Given the description of an element on the screen output the (x, y) to click on. 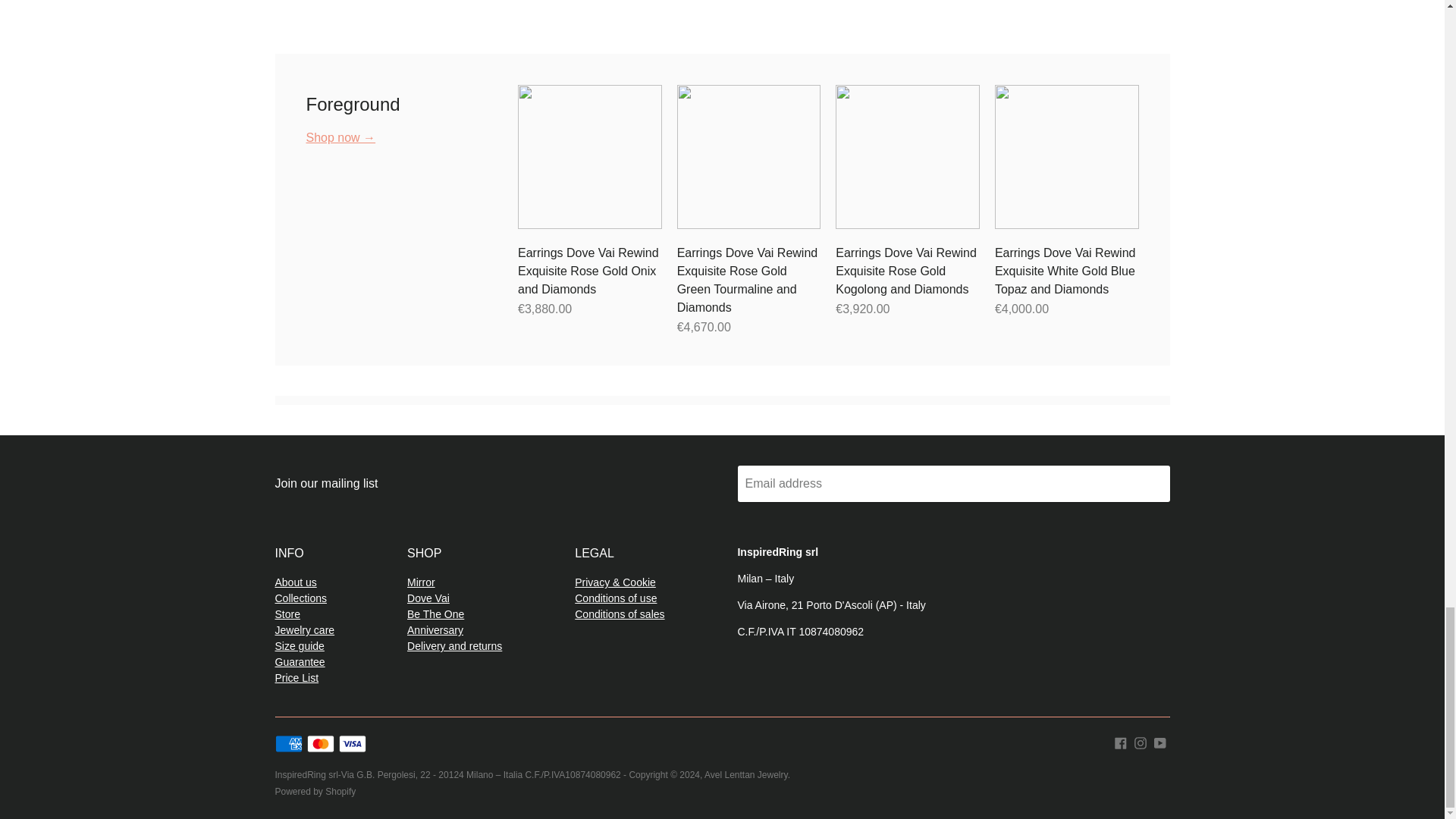
Avel Lenttan Jewelry on Instagram (1140, 741)
Visa (352, 743)
Mastercard (320, 743)
Avel Lenttan Jewelry on Facebook (1120, 741)
American Express (288, 743)
Avel Lenttan Jewelry on YouTube (1160, 741)
